Given the description of an element on the screen output the (x, y) to click on. 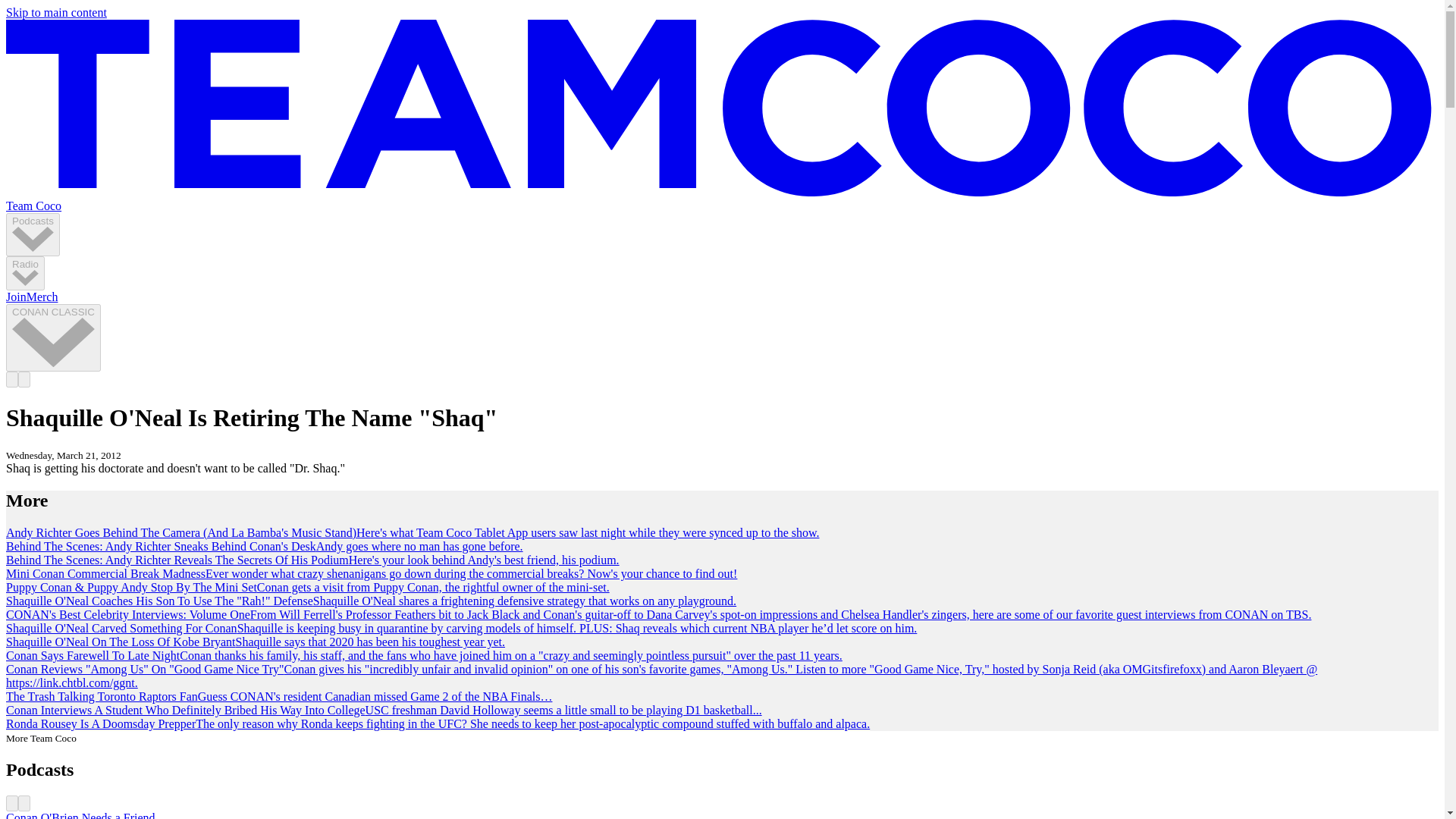
Shaquille O'Neal On The Loss Of Kobe Bryant (120, 641)
Shaquille O'Neal Carved Something For Conan (121, 627)
CONAN's Best Celebrity Interviews: Volume One (127, 614)
Conan Says Farewell To Late Night (92, 655)
Skip to main content (55, 11)
Andy goes where no man has gone before. (418, 545)
Join (15, 296)
CONAN CLASSIC (52, 337)
Merch (42, 296)
Shaquille says that 2020 has been his toughest year yet. (370, 641)
